Given the description of an element on the screen output the (x, y) to click on. 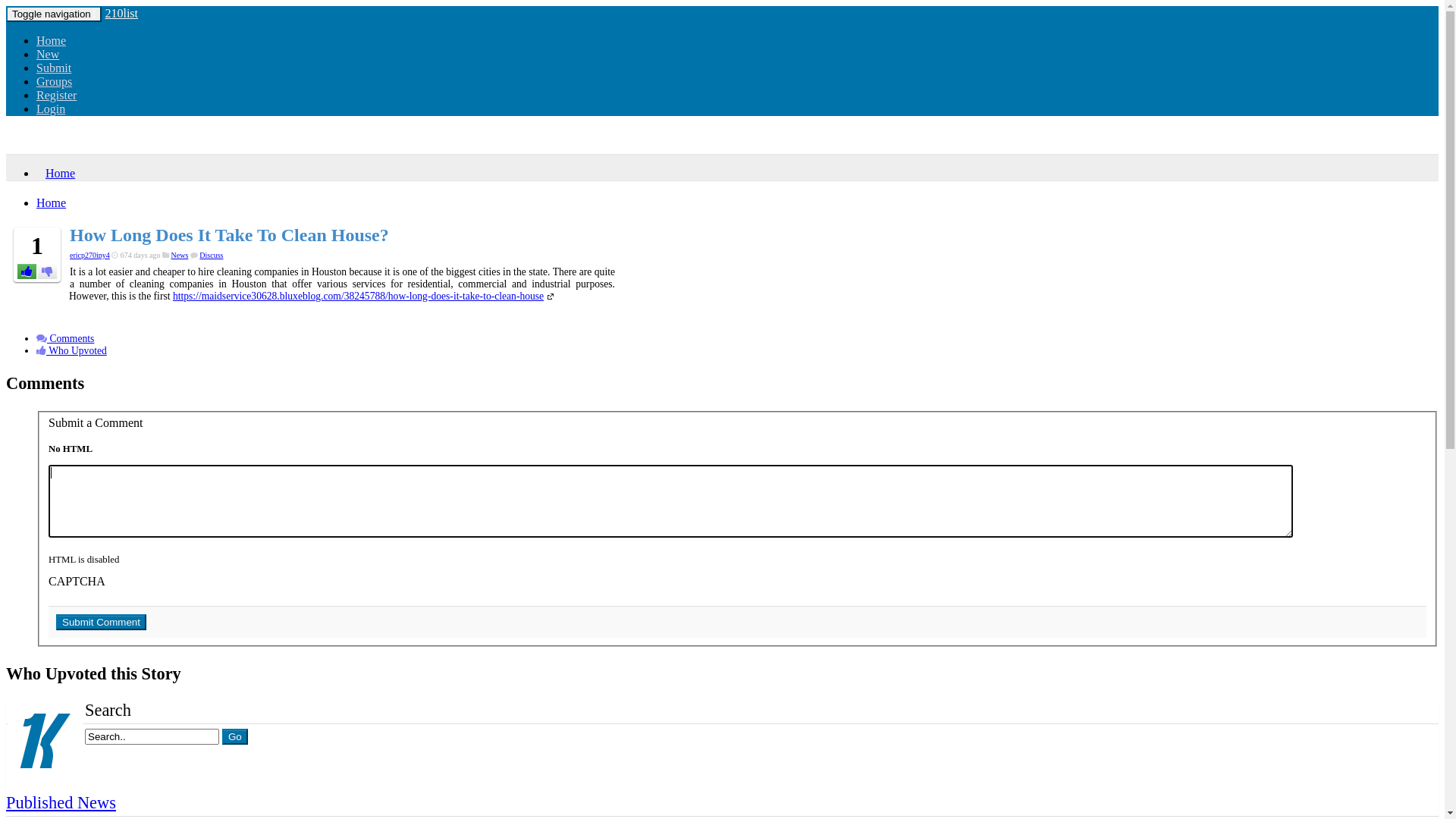
Go Element type: text (234, 736)
Login Element type: text (50, 108)
Home Element type: text (55, 173)
Discuss Element type: text (210, 255)
210list Element type: text (121, 12)
Comments Element type: text (65, 338)
Who Upvoted Element type: text (71, 350)
Toggle navigation Element type: text (53, 13)
Submit Element type: text (53, 67)
Published News Element type: text (61, 802)
Submit Comment Element type: text (101, 622)
Home Element type: text (50, 202)
Register Element type: text (56, 94)
Groups Element type: text (54, 81)
ericp270ipy4 Element type: text (89, 255)
News Element type: text (179, 255)
Home Element type: text (50, 40)
New Element type: text (47, 53)
